Given the description of an element on the screen output the (x, y) to click on. 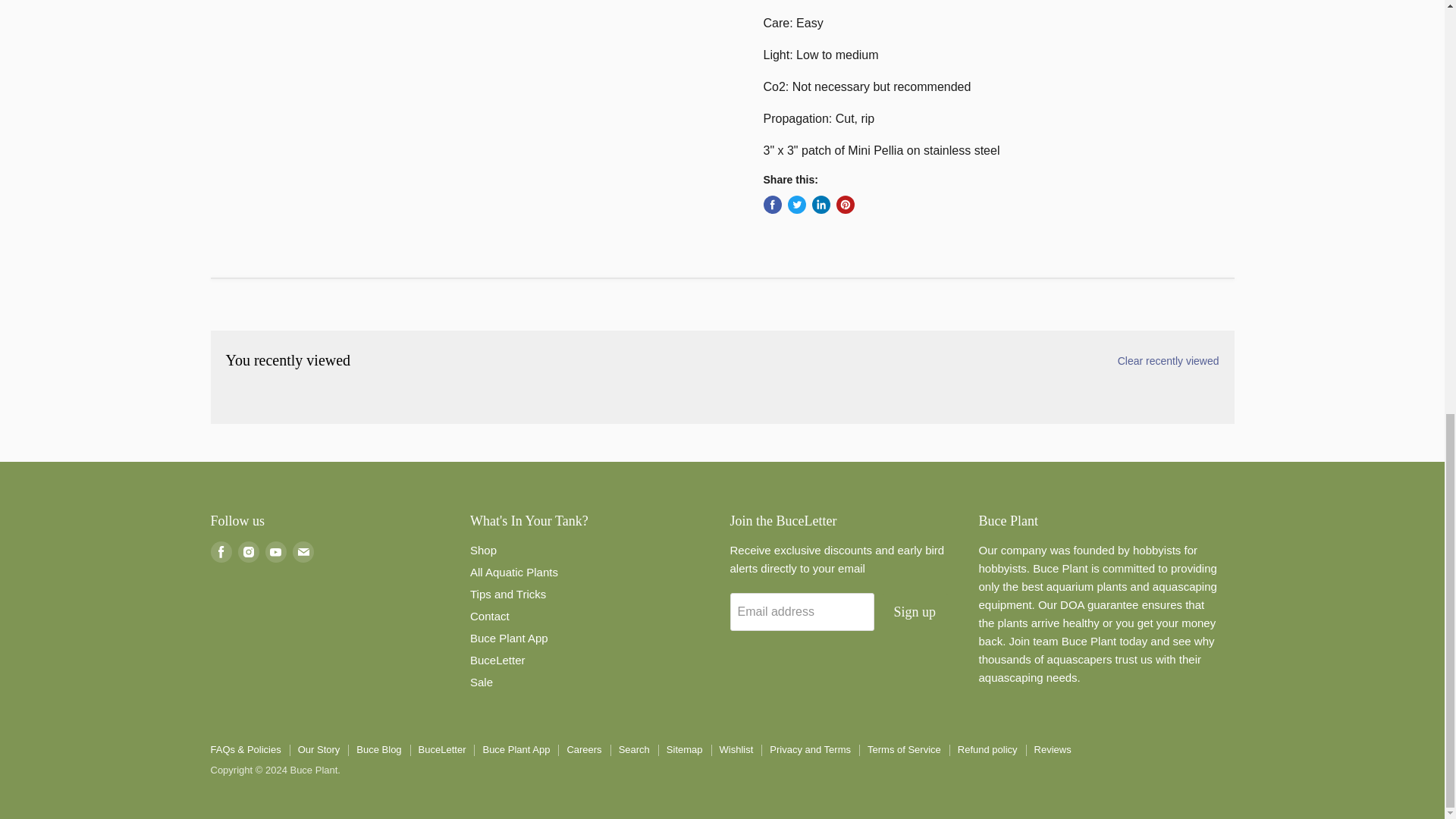
Facebook (221, 551)
Email (303, 551)
Instagram (248, 551)
Youtube (275, 551)
